Given the description of an element on the screen output the (x, y) to click on. 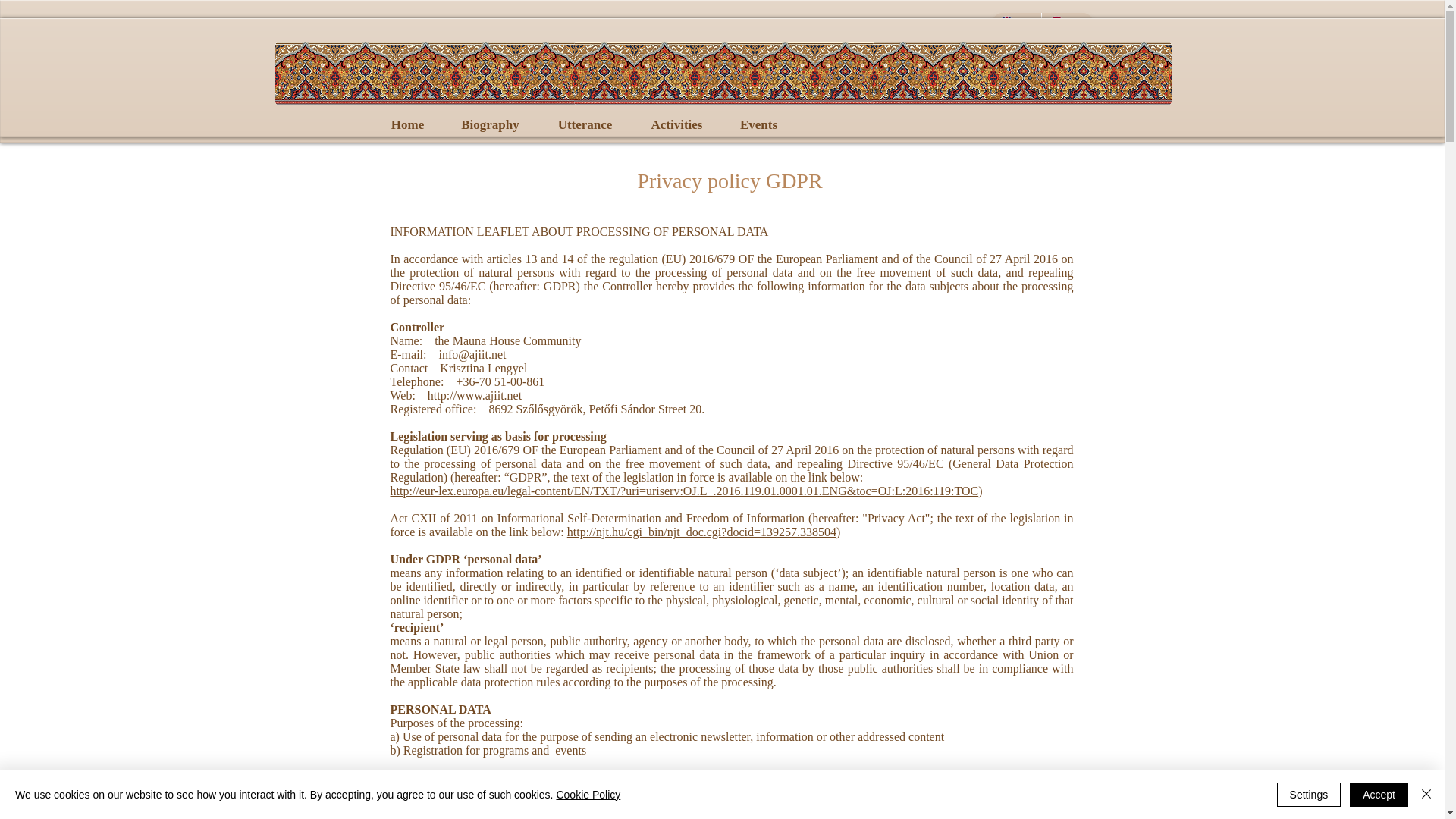
Activities (676, 124)
Home (394, 129)
Cookie Policy (588, 794)
Biography (490, 124)
Events (841, 129)
HU (1067, 24)
Utterance (619, 129)
Activities (738, 129)
Accept (1378, 794)
Biography (499, 129)
Home (407, 124)
EN (1016, 24)
Settings (1308, 794)
Utterance (584, 124)
Events (758, 124)
